Given the description of an element on the screen output the (x, y) to click on. 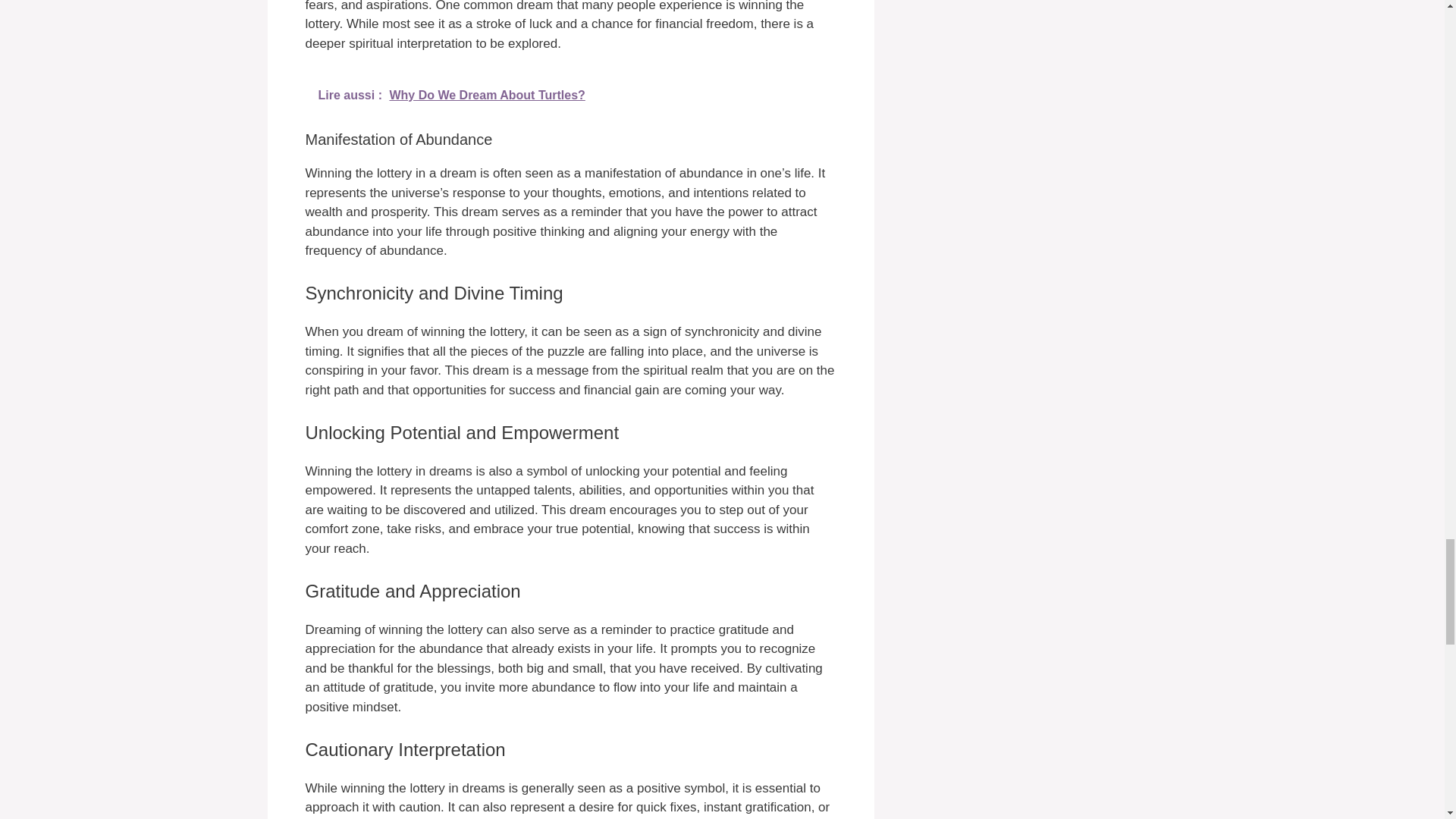
Lire aussi :  Why Do We Dream About Turtles? (569, 94)
